Given the description of an element on the screen output the (x, y) to click on. 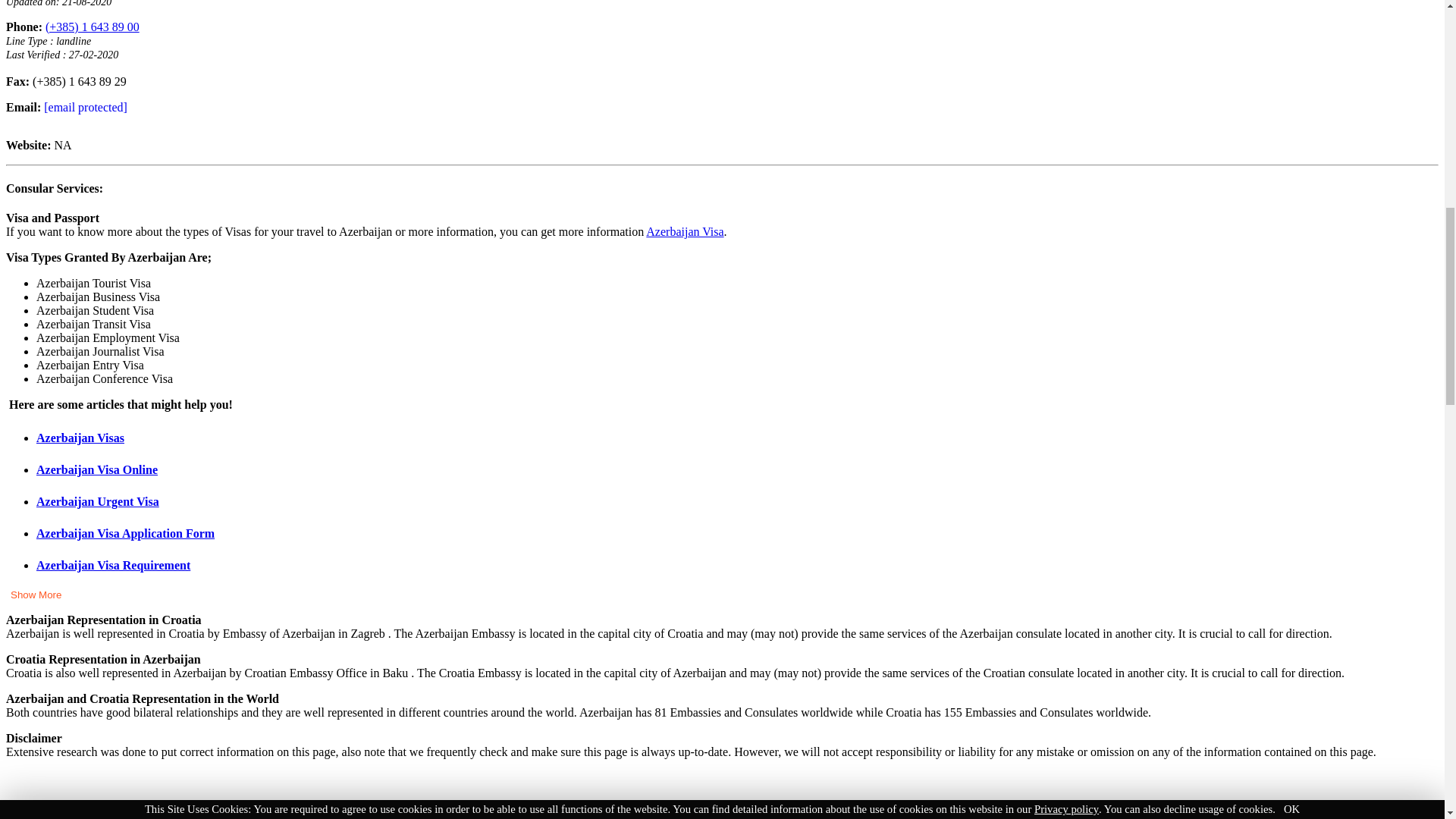
Azerbaijan Visa (684, 231)
